Given the description of an element on the screen output the (x, y) to click on. 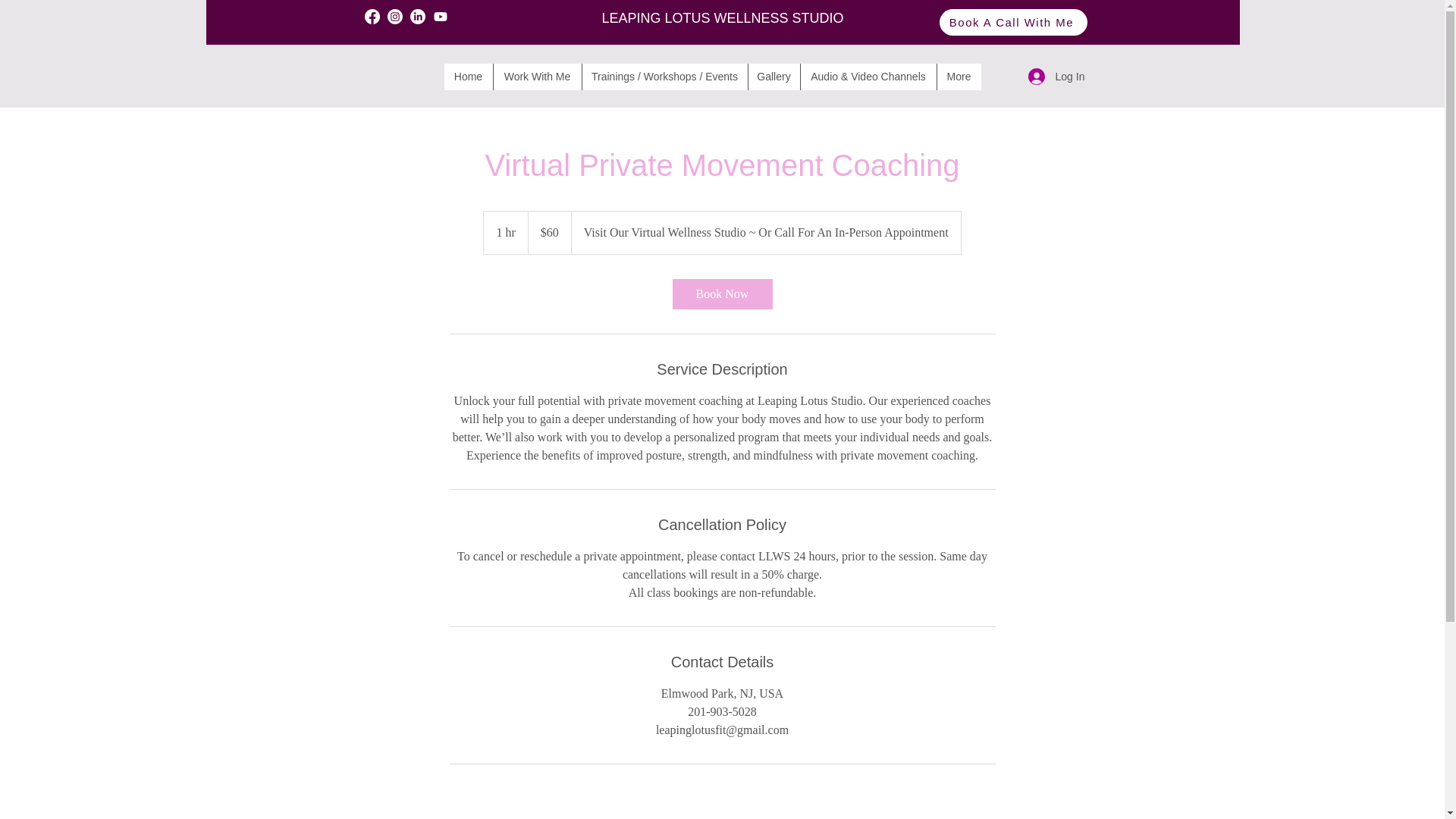
Book A Call With Me (1012, 22)
Home (468, 76)
Log In (1055, 76)
Book Now (721, 294)
Gallery (773, 76)
LEAPING LOTUS WELLNESS STUDIO (722, 17)
